Given the description of an element on the screen output the (x, y) to click on. 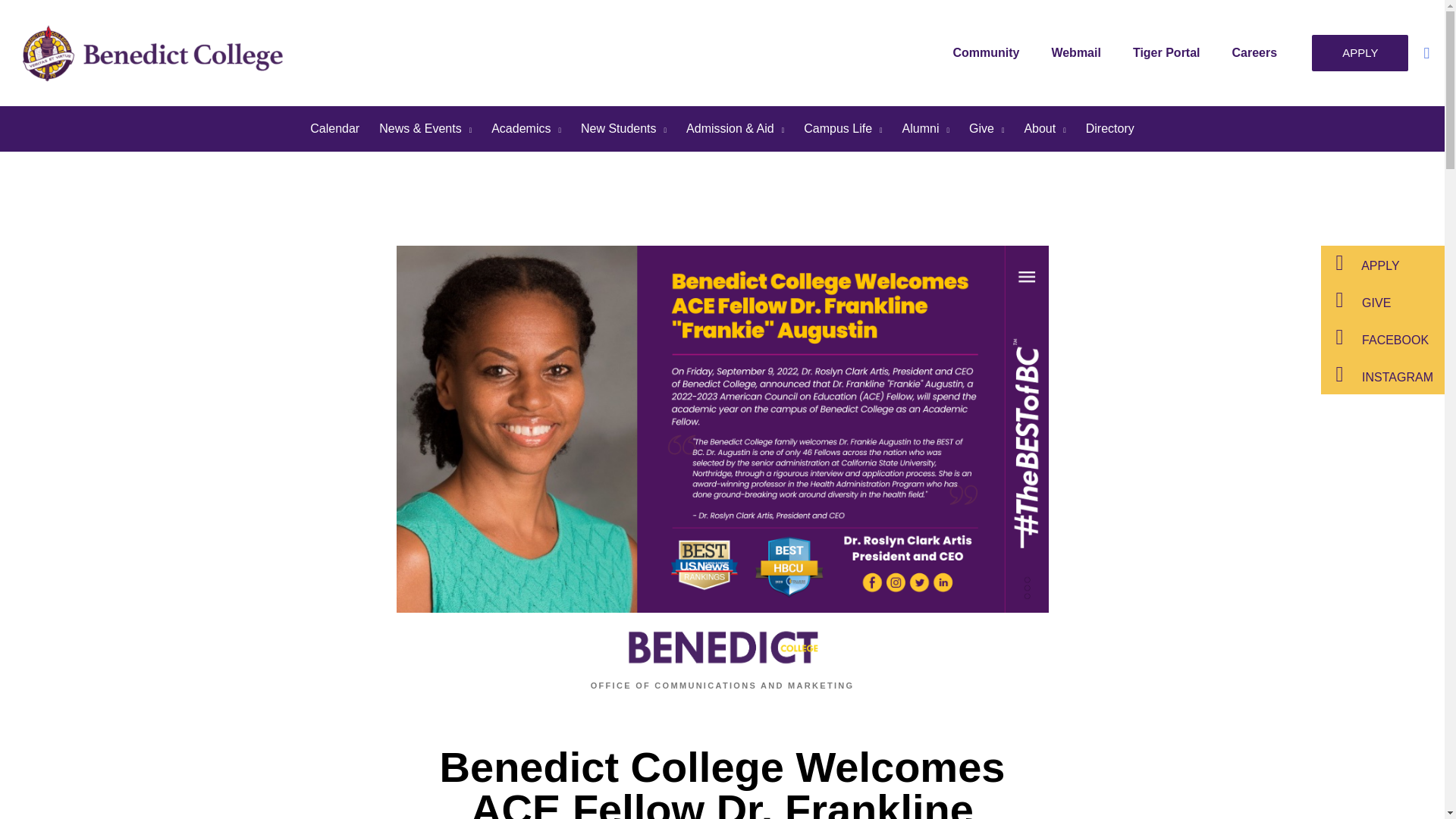
Academics (525, 128)
Tiger Portal (1170, 52)
Calendar (334, 128)
APPLY (1359, 53)
Careers (1258, 52)
Community (989, 52)
Webmail (1080, 52)
